Given the description of an element on the screen output the (x, y) to click on. 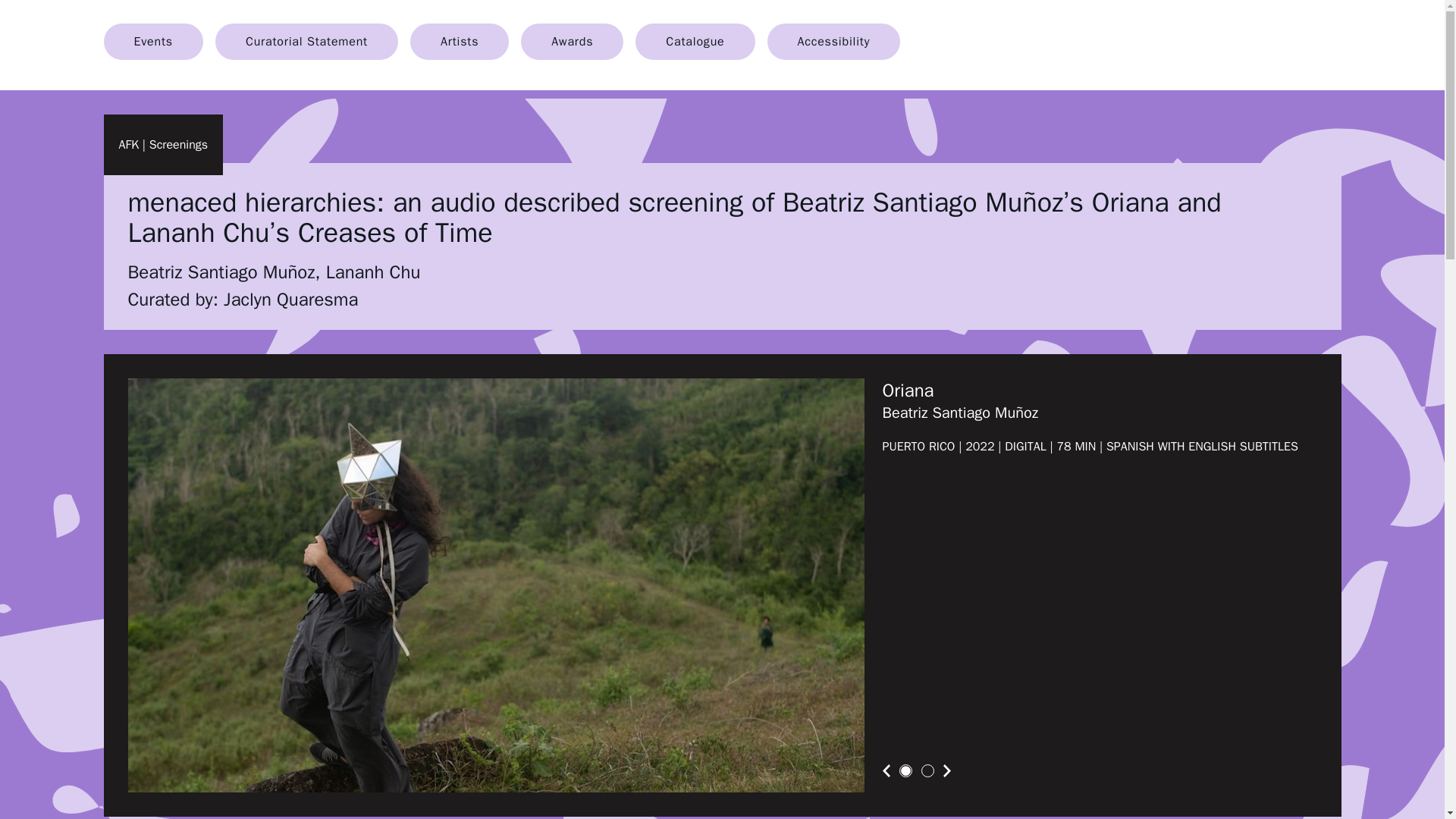
Accessibility (834, 41)
Events (152, 41)
Artists (459, 41)
Curatorial Statement (306, 41)
Awards (572, 41)
Catalogue (694, 41)
